Given the description of an element on the screen output the (x, y) to click on. 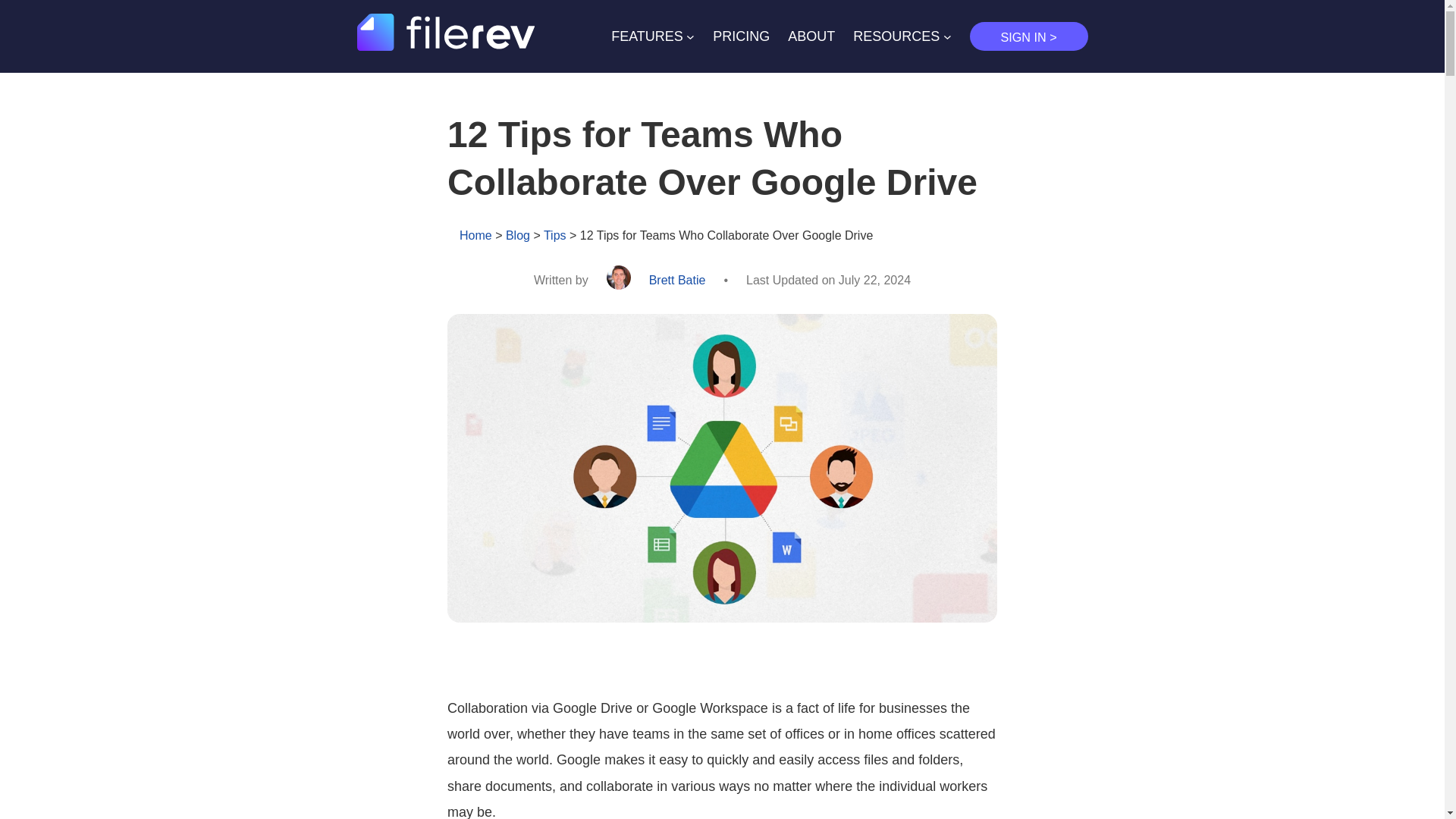
Home (476, 235)
Filerev for Google Drive (445, 31)
PRICING (741, 36)
Brett Batie (677, 279)
Tips (554, 235)
Filerev for Google Drive (445, 46)
Blog (517, 235)
ABOUT (810, 36)
